Given the description of an element on the screen output the (x, y) to click on. 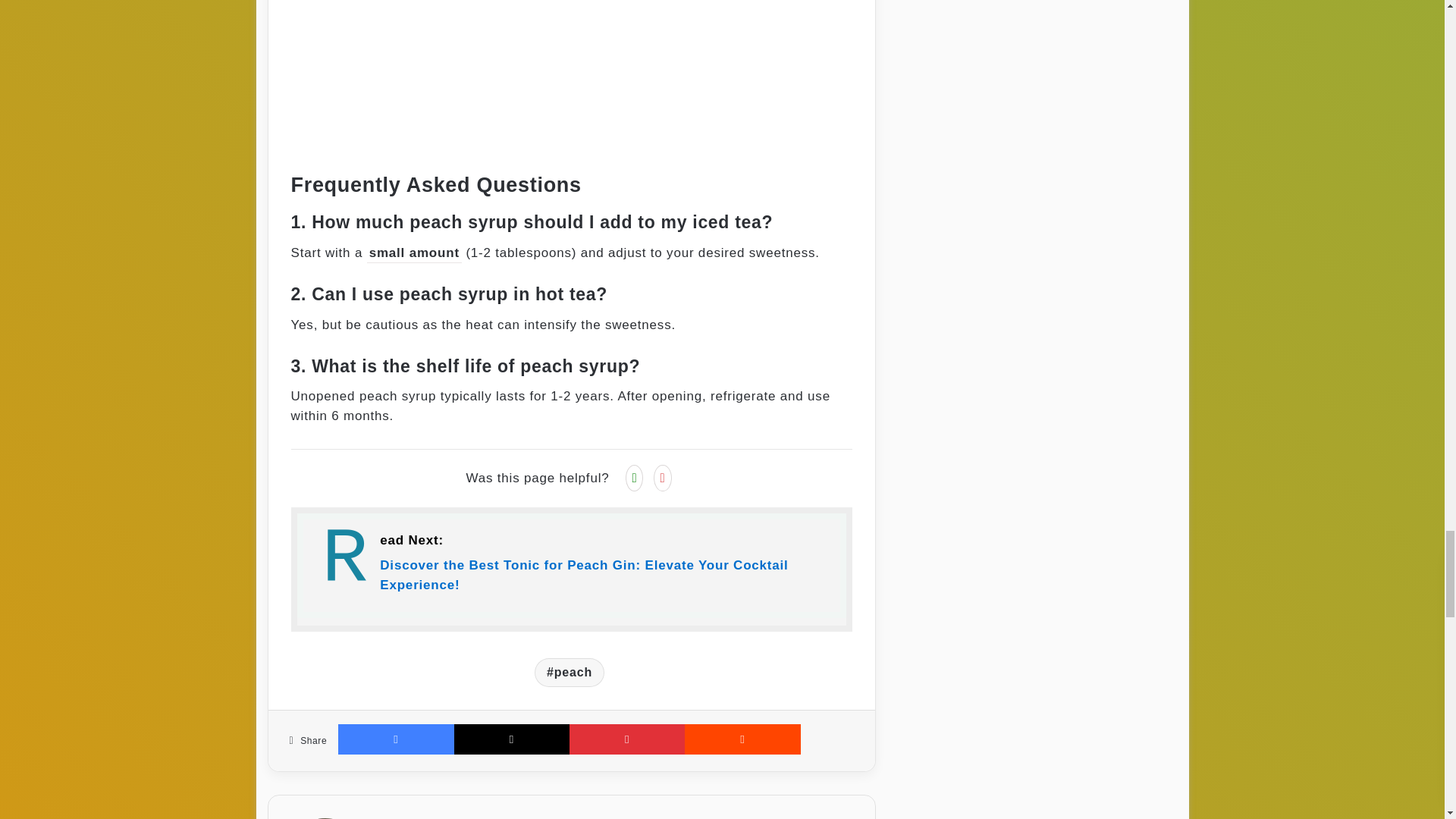
Facebook (394, 738)
Pinterest (626, 738)
Reddit (741, 738)
X (511, 738)
